Given the description of an element on the screen output the (x, y) to click on. 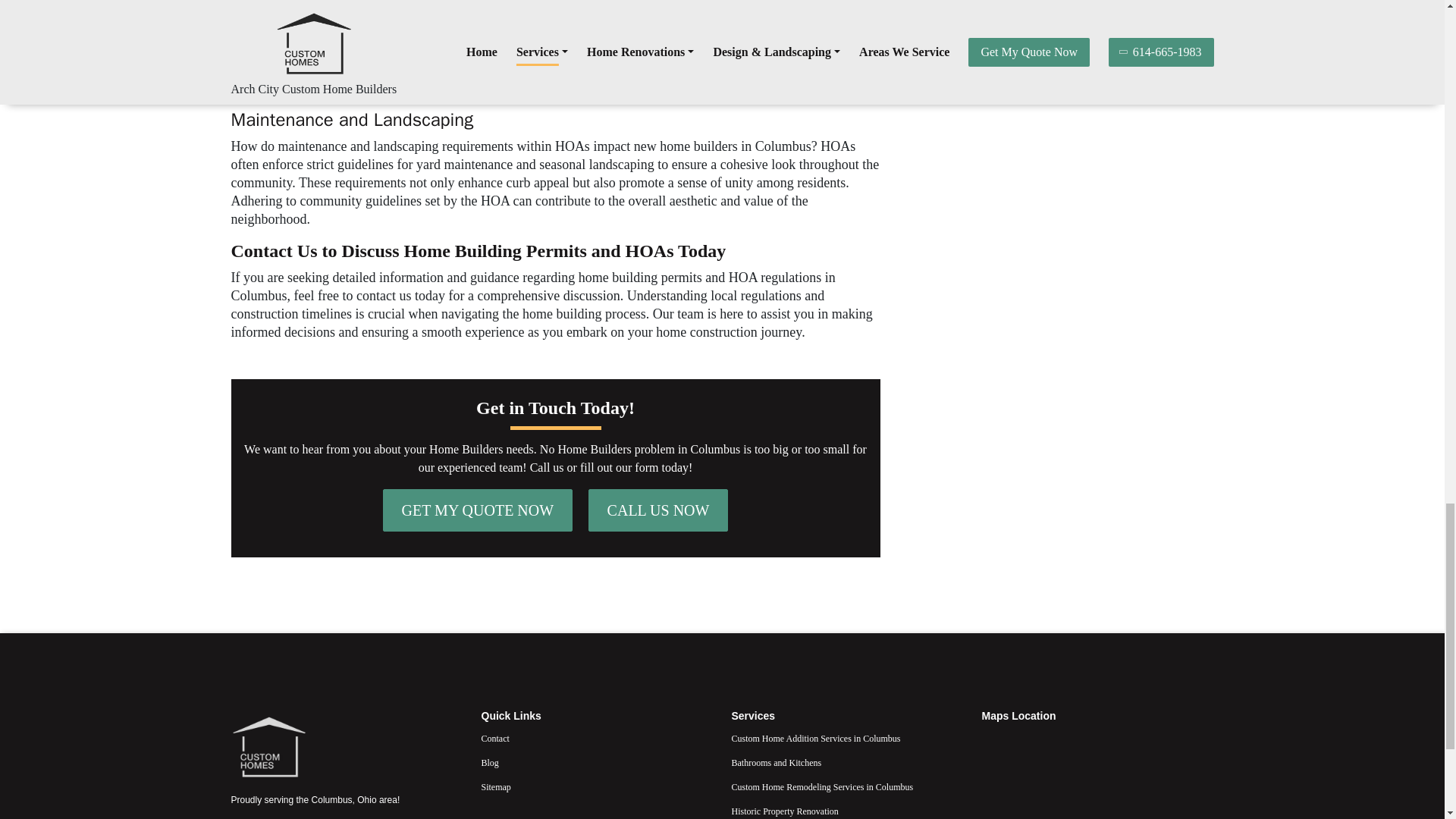
GET MY QUOTE NOW (477, 509)
CALL US NOW (658, 509)
